Given the description of an element on the screen output the (x, y) to click on. 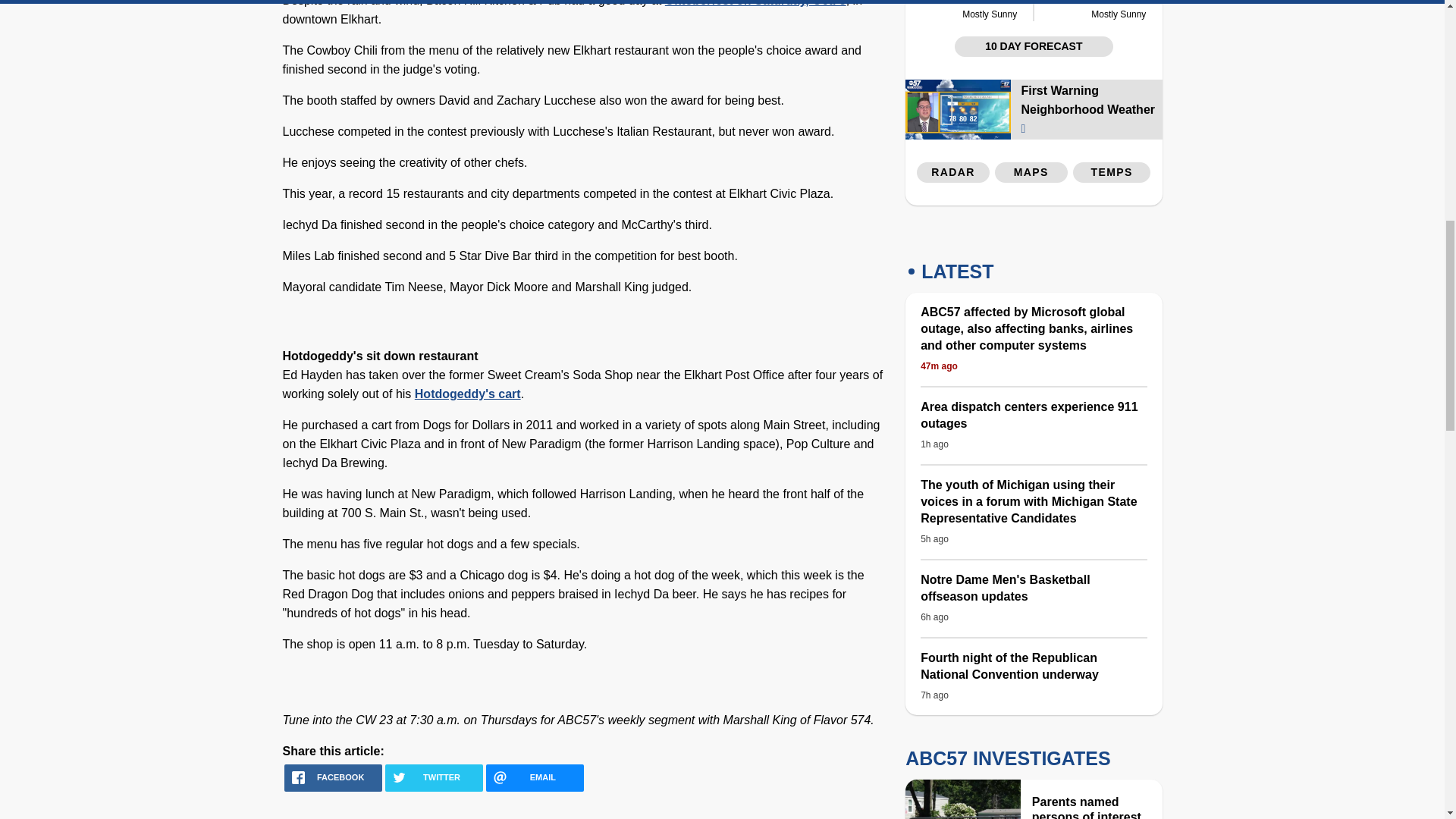
weather (989, 10)
weather (1118, 10)
weather (939, 1)
weather (1067, 1)
